Given the description of an element on the screen output the (x, y) to click on. 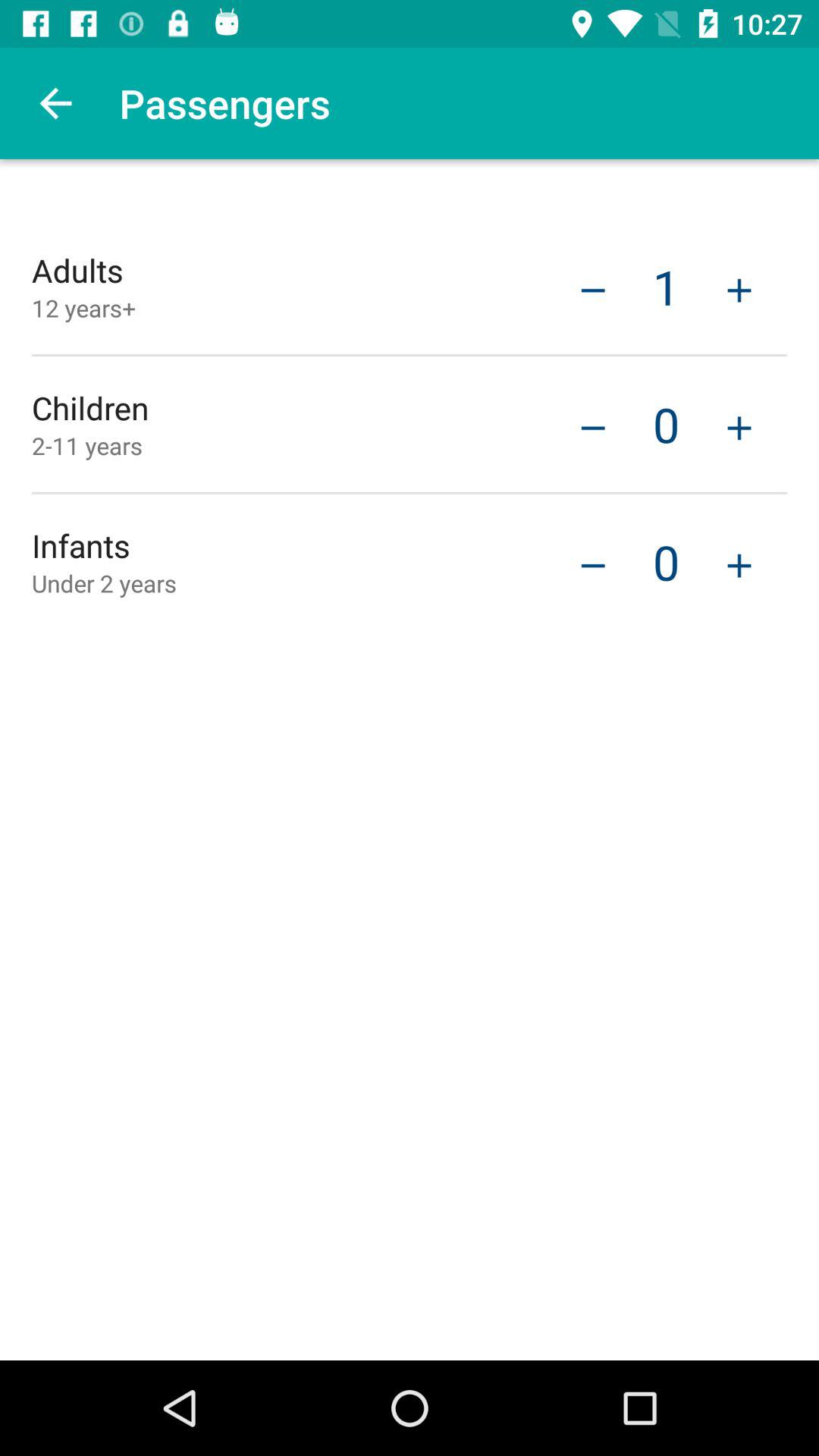
increase (739, 426)
